Given the description of an element on the screen output the (x, y) to click on. 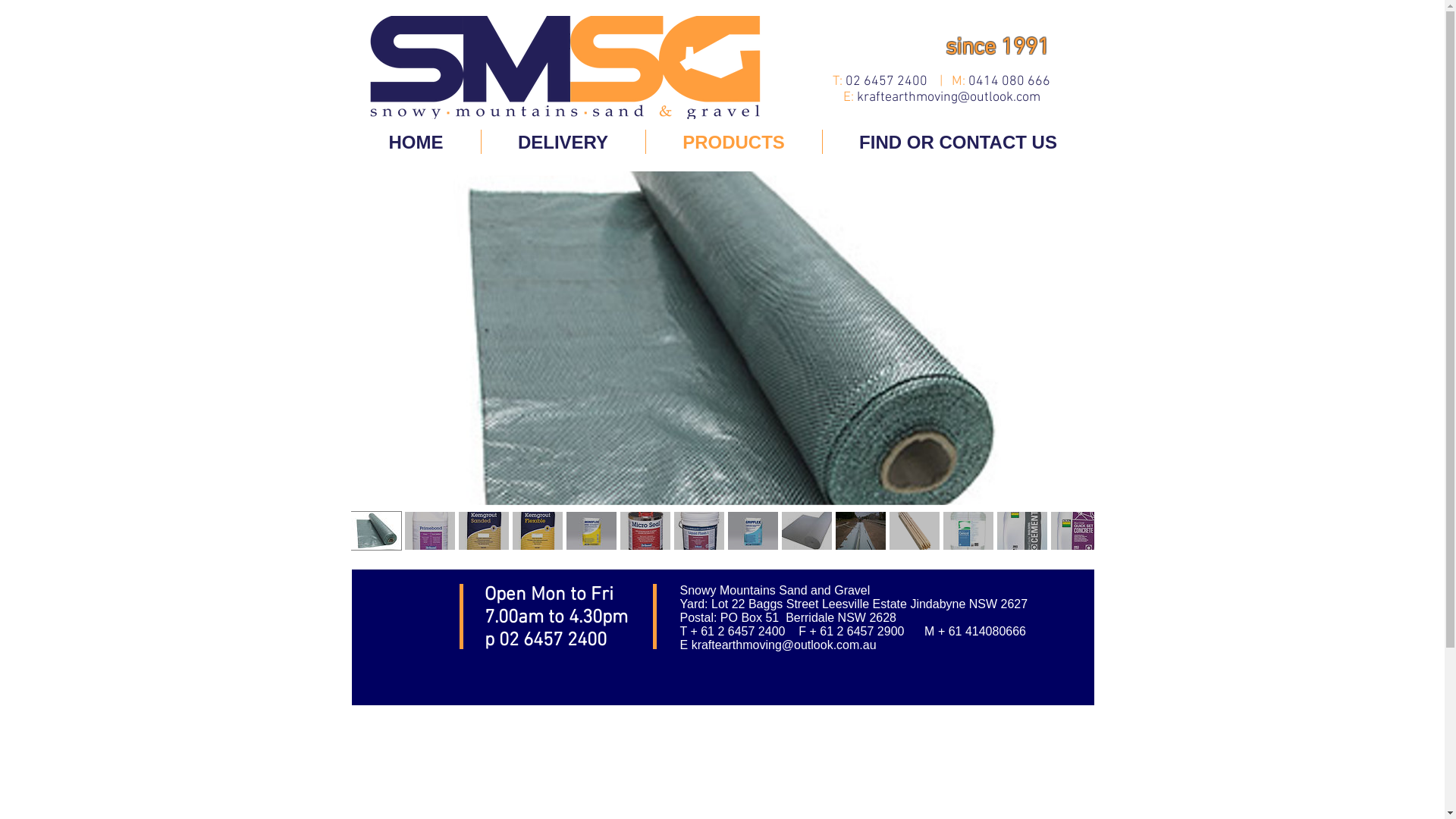
HOME Element type: text (415, 141)
kraftearthmoving@outlook.com.au Element type: text (783, 644)
DELIVERY Element type: text (562, 141)
Snowy Mountains Sand and Gravel Logo Element type: hover (567, 67)
PRODUCTS Element type: text (734, 141)
kraftearthmoving@outlook.com Element type: text (948, 97)
Facebook Like Element type: hover (405, 602)
FIND OR CONTACT US Element type: text (957, 141)
